Given the description of an element on the screen output the (x, y) to click on. 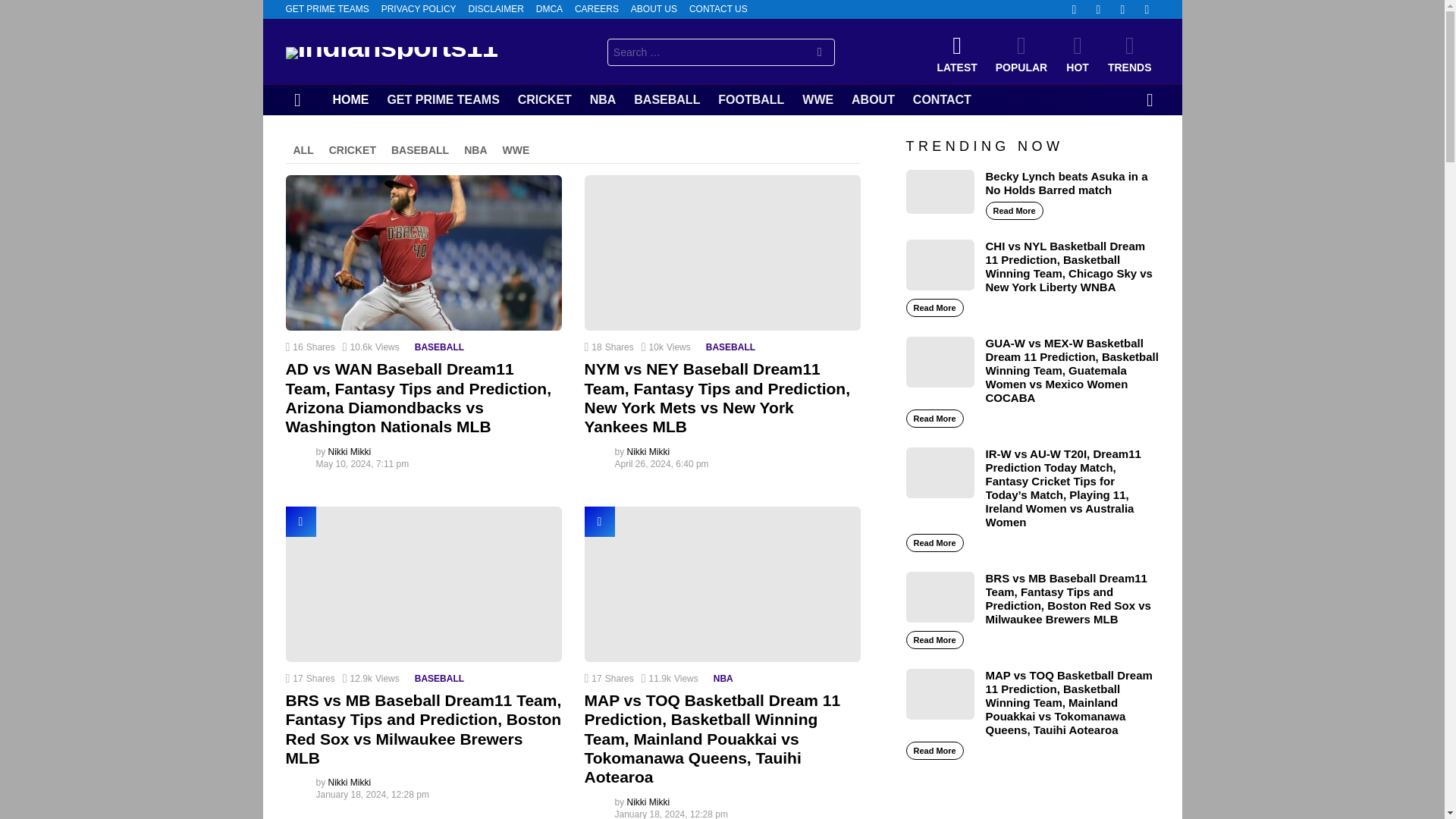
GET PRIME TEAMS (326, 9)
Popular (598, 521)
HOME (349, 99)
CONTACT (941, 99)
Posts by Nikki Mikki (648, 451)
WWE (817, 99)
PRIVACY POLICY (419, 9)
FOOTBALL (751, 99)
